Given the description of an element on the screen output the (x, y) to click on. 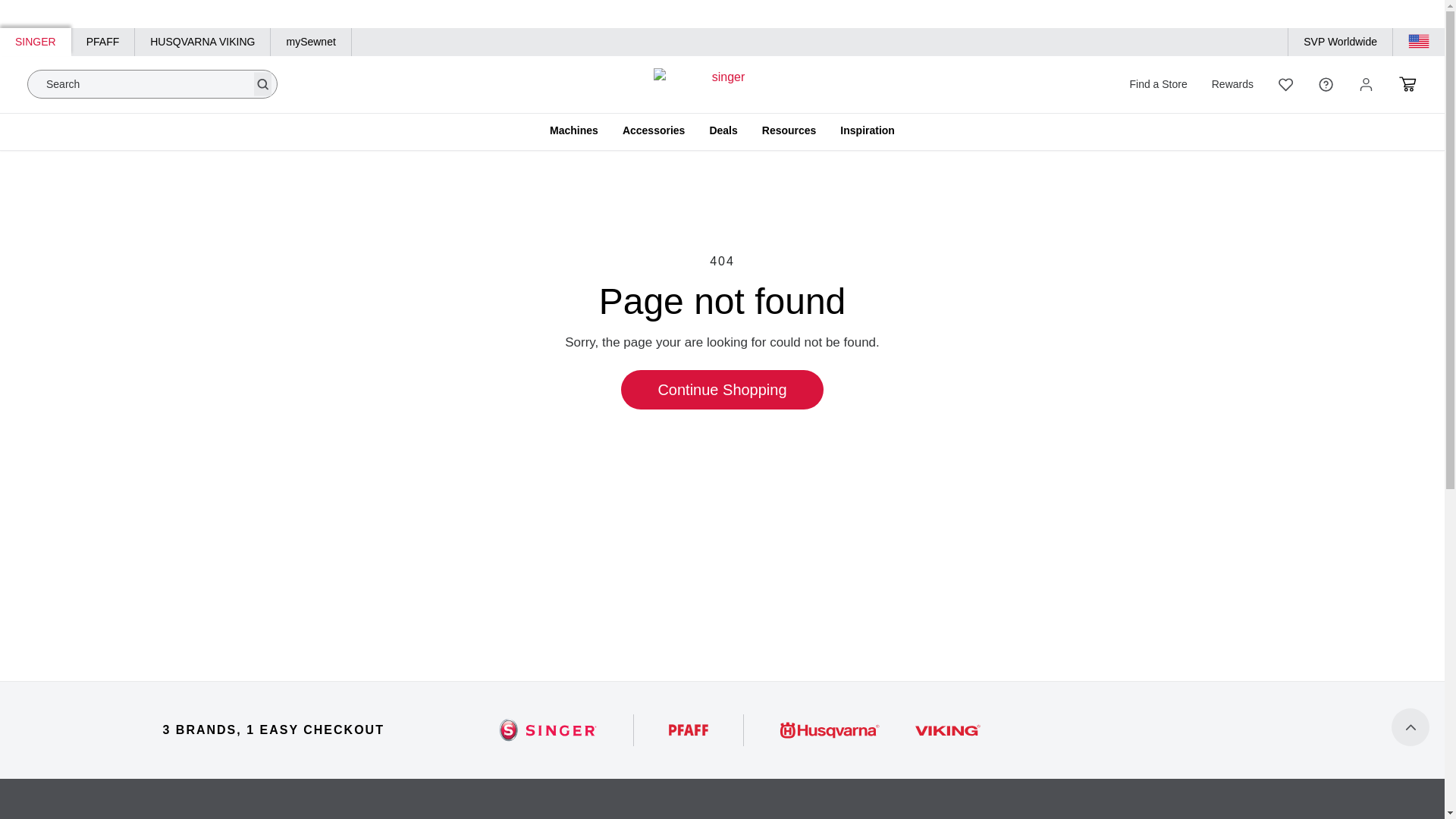
Visit Singer homepage (35, 41)
HV (879, 730)
Accessories (654, 135)
mySewnet (310, 41)
SVP Worldwide (1340, 41)
Machines (574, 135)
Link to SVP homepage (1340, 41)
PFAFF (688, 730)
Find a Store (1157, 84)
Visit Husqvarna Viking homepage (202, 41)
Rewards (1232, 84)
Visit PFAFF homepage (103, 41)
SINGER (35, 41)
Singer (547, 730)
Skip to content (96, 9)
